Given the description of an element on the screen output the (x, y) to click on. 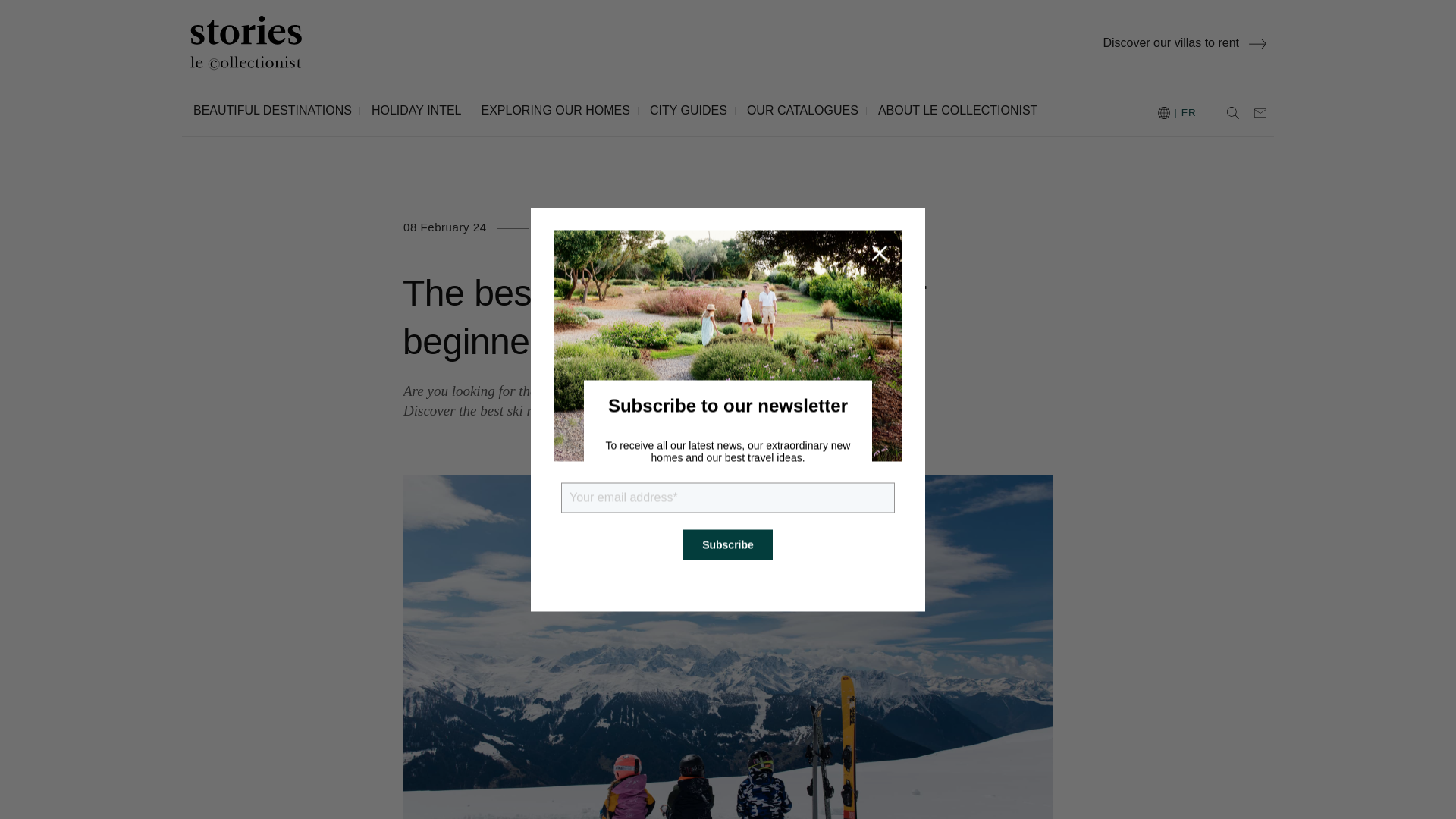
Discover our villas to rent (1184, 42)
EXPLORING OUR HOMES (548, 110)
HOLIDAY INTEL (410, 110)
OUR CATALOGUES (797, 110)
lecollectionist.png (245, 42)
Discover our villas to rent (1184, 42)
CITY GUIDES (682, 110)
Destinations (578, 226)
BEAUTIFUL DESTINATIONS (272, 110)
Ski (700, 226)
Go (240, 18)
ABOUT LE COLLECTIONIST (951, 110)
French Alps (652, 226)
